Given the description of an element on the screen output the (x, y) to click on. 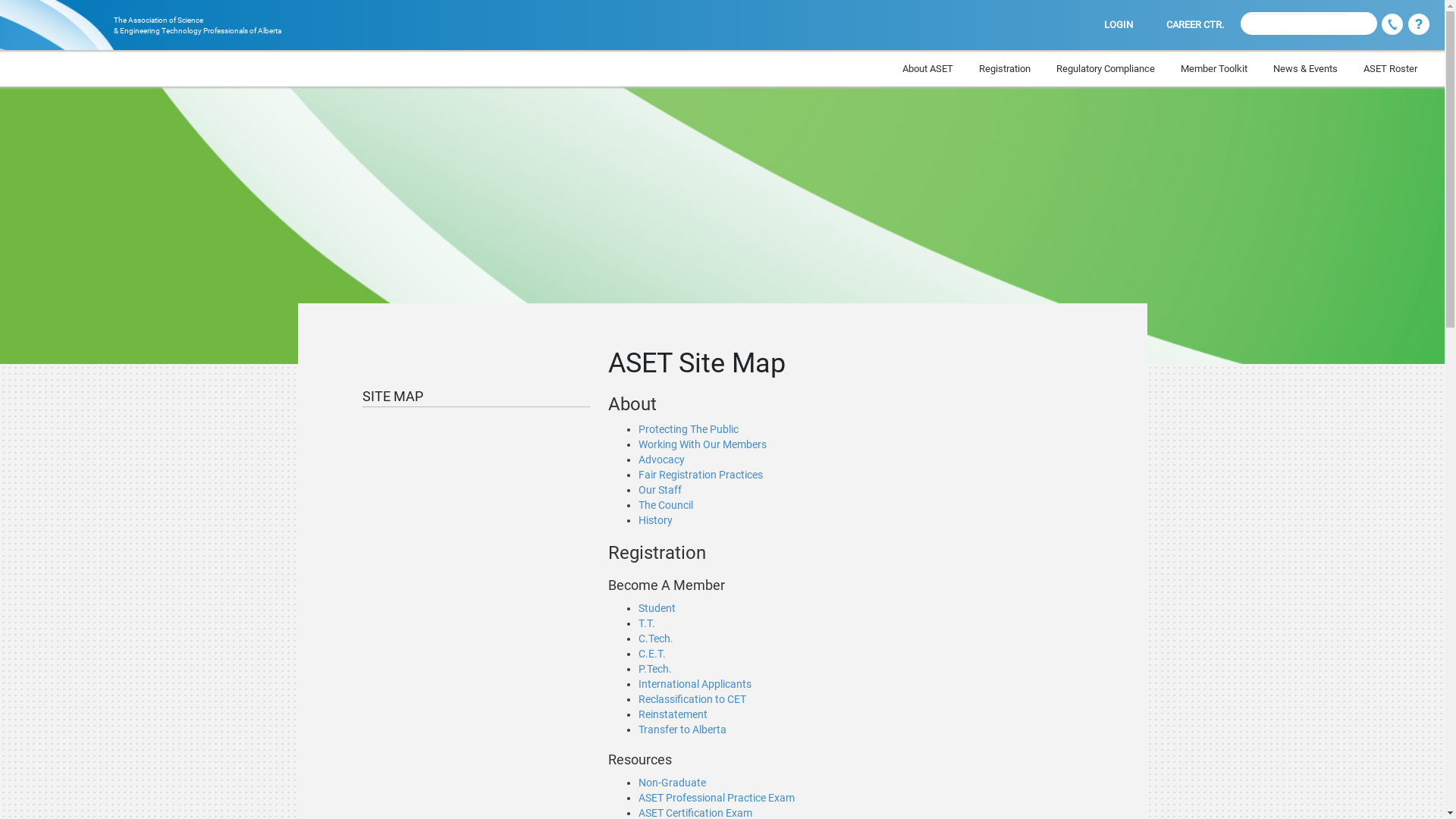
CONTACT Element type: text (1391, 24)
News & Events Element type: text (1305, 68)
History Element type: text (655, 520)
T.T. Element type: text (646, 623)
Reclassification to CET Element type: text (692, 699)
Our Staff Element type: text (659, 489)
LOGIN Element type: text (1118, 24)
The Council Element type: text (665, 504)
C.Tech. Element type: text (655, 638)
Advocacy Element type: text (661, 459)
ASET Roster Element type: text (1389, 68)
HELP Element type: text (1418, 24)
Protecting The Public Element type: text (688, 429)
Working With Our Members Element type: text (702, 444)
Member Toolkit Element type: text (1214, 68)
CAREER CTR. Element type: text (1194, 24)
Registration Element type: text (1004, 68)
Non-Graduate Element type: text (672, 782)
Reinstatement Element type: text (672, 714)
P.Tech. Element type: text (654, 668)
Student Element type: text (656, 608)
Transfer to Alberta Element type: text (682, 729)
Fair Registration Practices Element type: text (700, 474)
Regulatory Compliance Element type: text (1105, 68)
About ASET Element type: text (927, 68)
International Applicants Element type: text (694, 683)
C.E.T. Element type: text (651, 653)
ASET Professional Practice Exam Element type: text (716, 797)
